Given the description of an element on the screen output the (x, y) to click on. 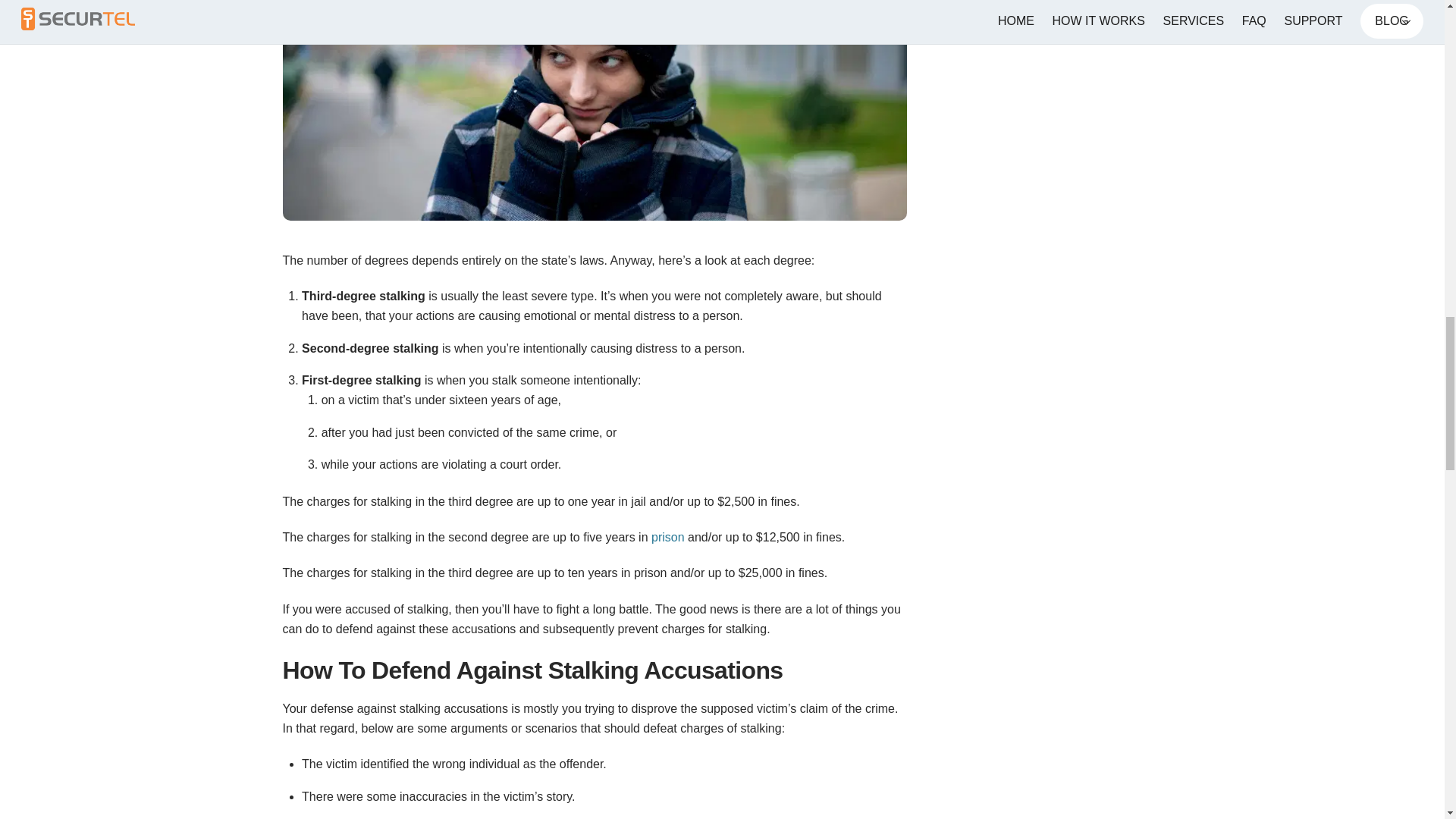
prison (667, 536)
